Given the description of an element on the screen output the (x, y) to click on. 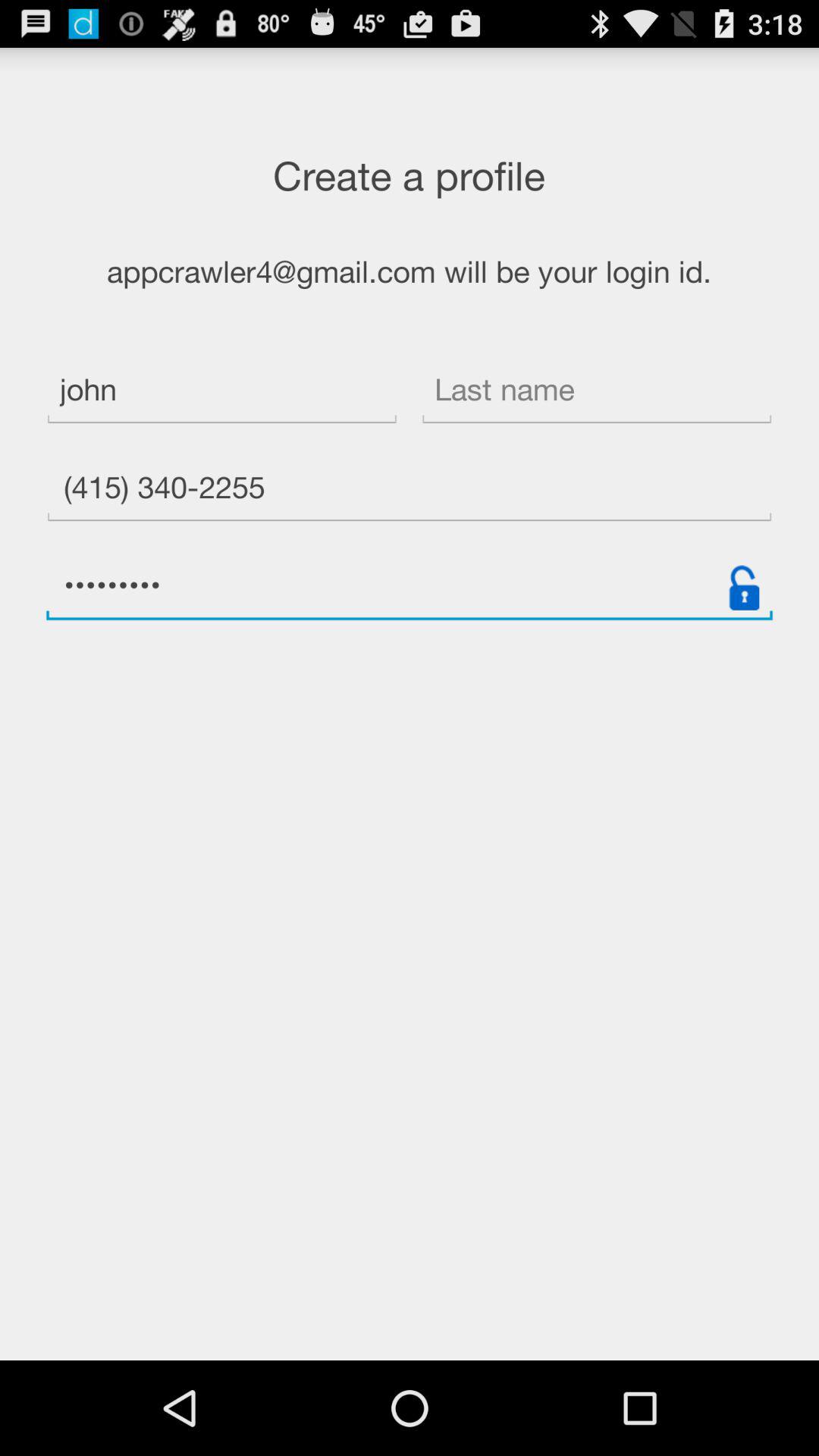
choose item above the (415) 340-2255 item (221, 392)
